Given the description of an element on the screen output the (x, y) to click on. 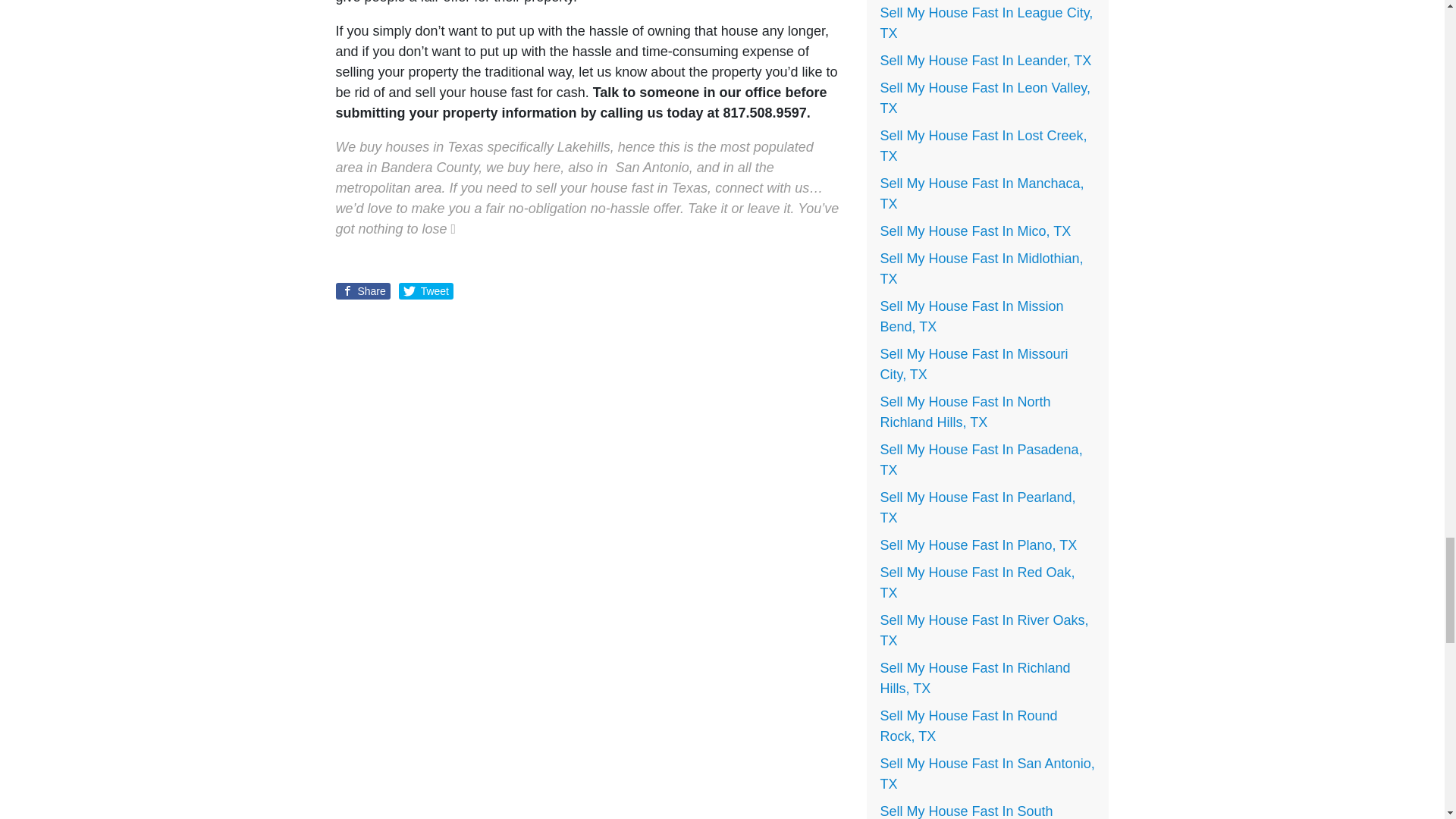
Tweet (425, 290)
Share on Twitter (425, 290)
Share (362, 290)
Share on Facebook (362, 290)
